Given the description of an element on the screen output the (x, y) to click on. 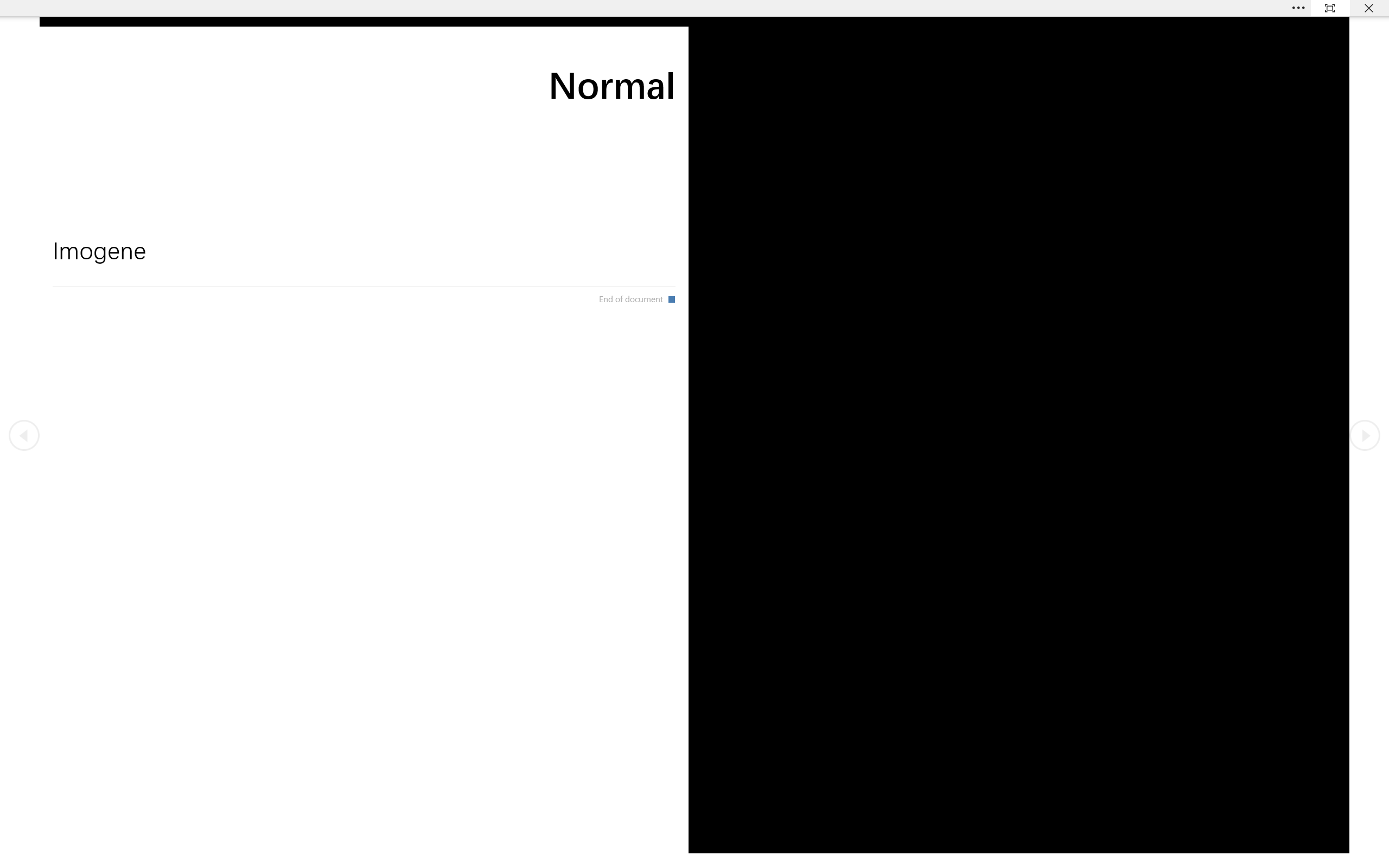
Class: NetUIScrollBar (694, 860)
Show the Ribbon (655, 8)
Class: MsoCommandBar (694, 8)
Class: NetUIAnchor (694, 8)
Always Show Reading Toolbar (1330, 8)
